Given the description of an element on the screen output the (x, y) to click on. 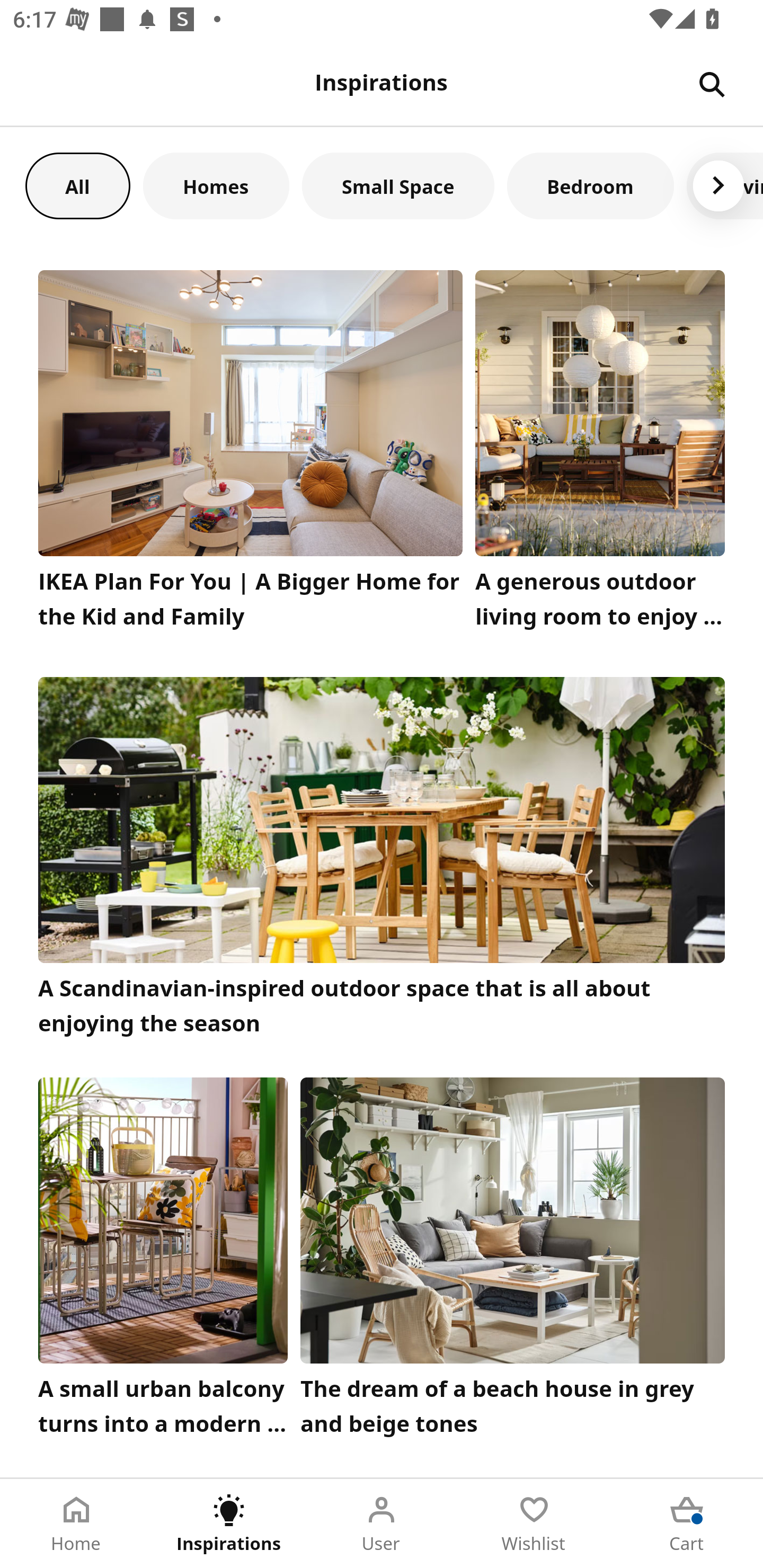
All (77, 185)
Homes (216, 185)
Small Space (398, 185)
Bedroom (590, 185)
The dream of a beach house in grey and beige tones (512, 1261)
Home
Tab 1 of 5 (76, 1522)
Inspirations
Tab 2 of 5 (228, 1522)
User
Tab 3 of 5 (381, 1522)
Wishlist
Tab 4 of 5 (533, 1522)
Cart
Tab 5 of 5 (686, 1522)
